Given the description of an element on the screen output the (x, y) to click on. 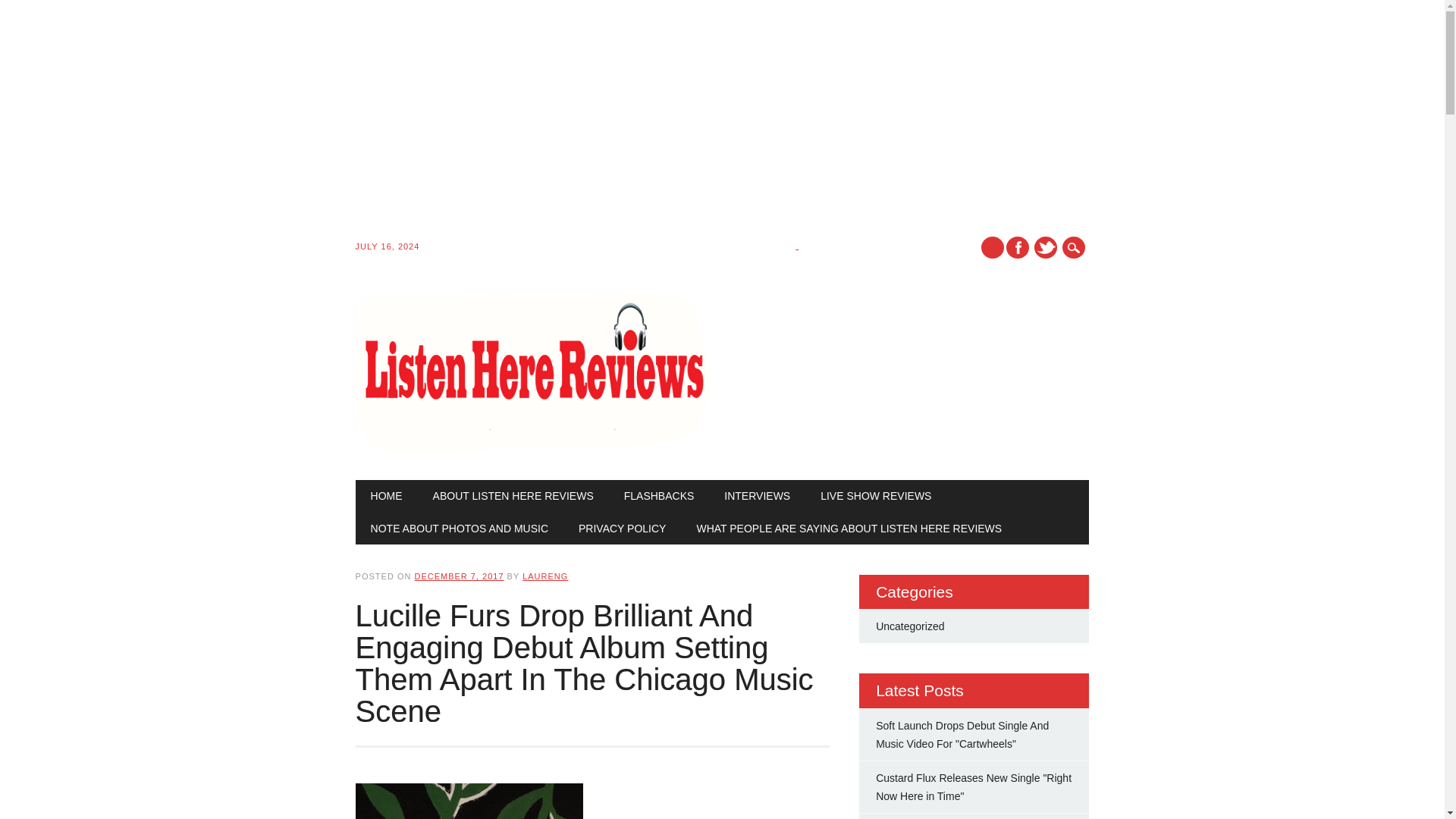
ABOUT LISTEN HERE REVIEWS (512, 495)
12:00 pm (458, 575)
HOME (386, 495)
View all posts by laureng (544, 575)
Facebook (1017, 247)
LIVE SHOW REVIEWS (875, 495)
Custard Flux Releases New Single "Right Now Here in Time" (973, 787)
Listen Here Reviews (532, 449)
JULY 16, 2024 (577, 244)
Twitter (1045, 247)
DECEMBER 7, 2017 (458, 575)
LAURENG (544, 575)
